Given the description of an element on the screen output the (x, y) to click on. 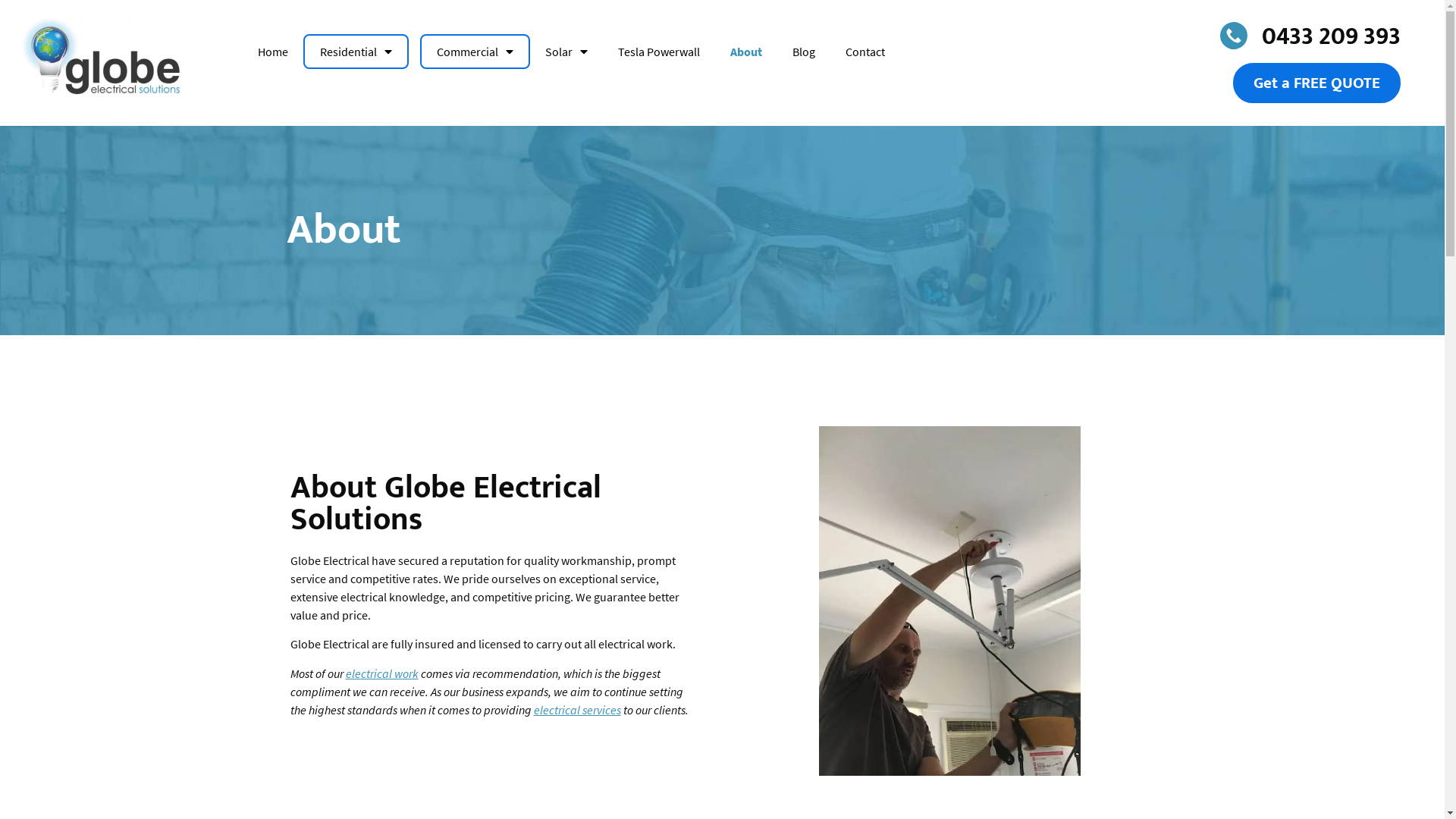
electrical work Element type: text (381, 672)
Blog Element type: text (803, 51)
Solar Element type: text (566, 51)
Contact Element type: text (857, 51)
Tesla Powerwall Element type: text (658, 51)
Get a FREE QUOTE Element type: text (1316, 82)
Commercial Element type: text (475, 51)
0433 209 393 Element type: text (1257, 35)
Residential Element type: text (355, 51)
About Element type: text (746, 51)
electrical services Element type: text (577, 709)
Home Element type: text (280, 51)
